Given the description of an element on the screen output the (x, y) to click on. 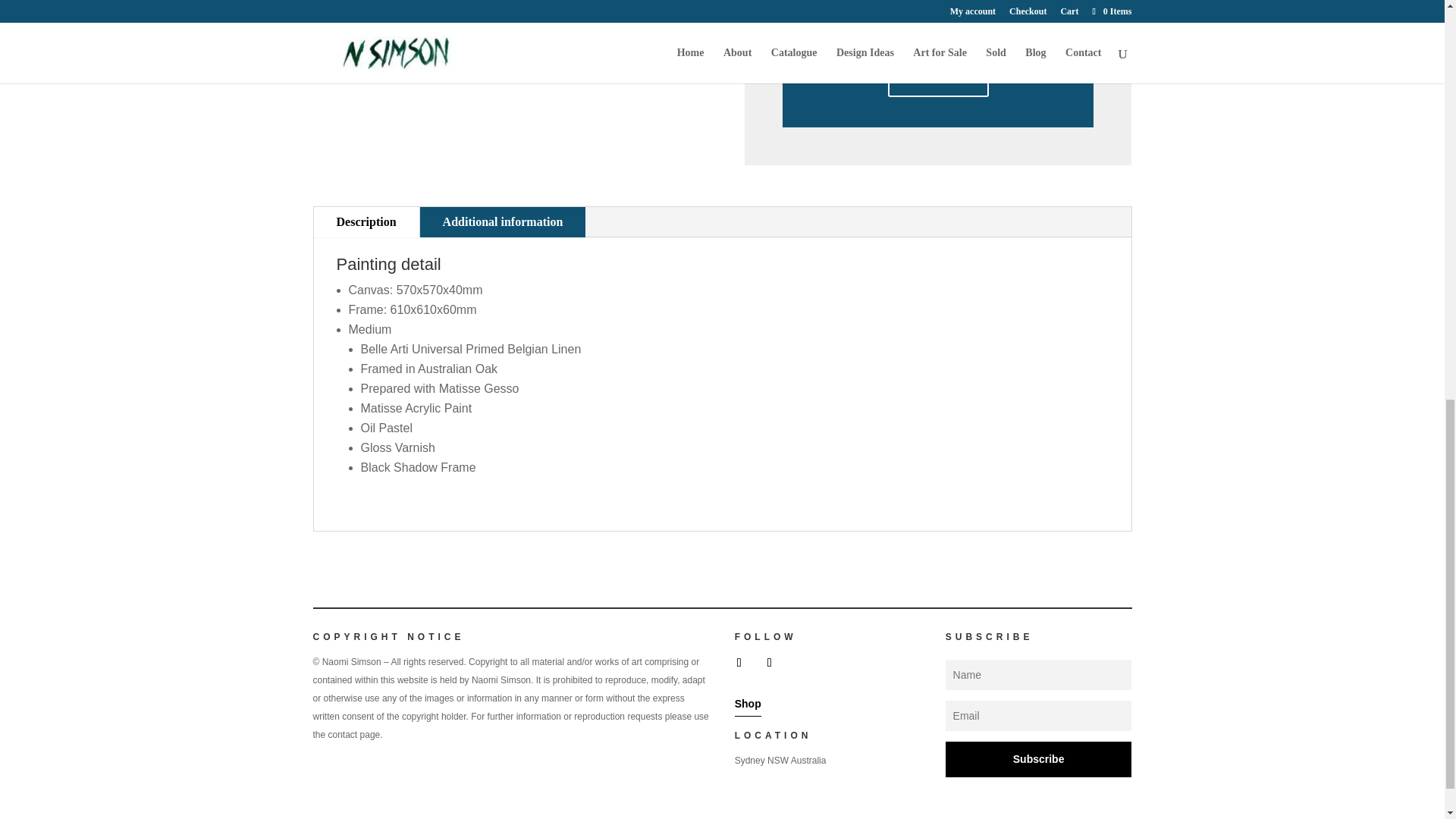
Shop (748, 703)
Follow on Facebook (738, 662)
Click here (938, 77)
Subscribe (1038, 760)
Follow on Instagram (769, 662)
Description (366, 222)
Additional information (503, 222)
